Given the description of an element on the screen output the (x, y) to click on. 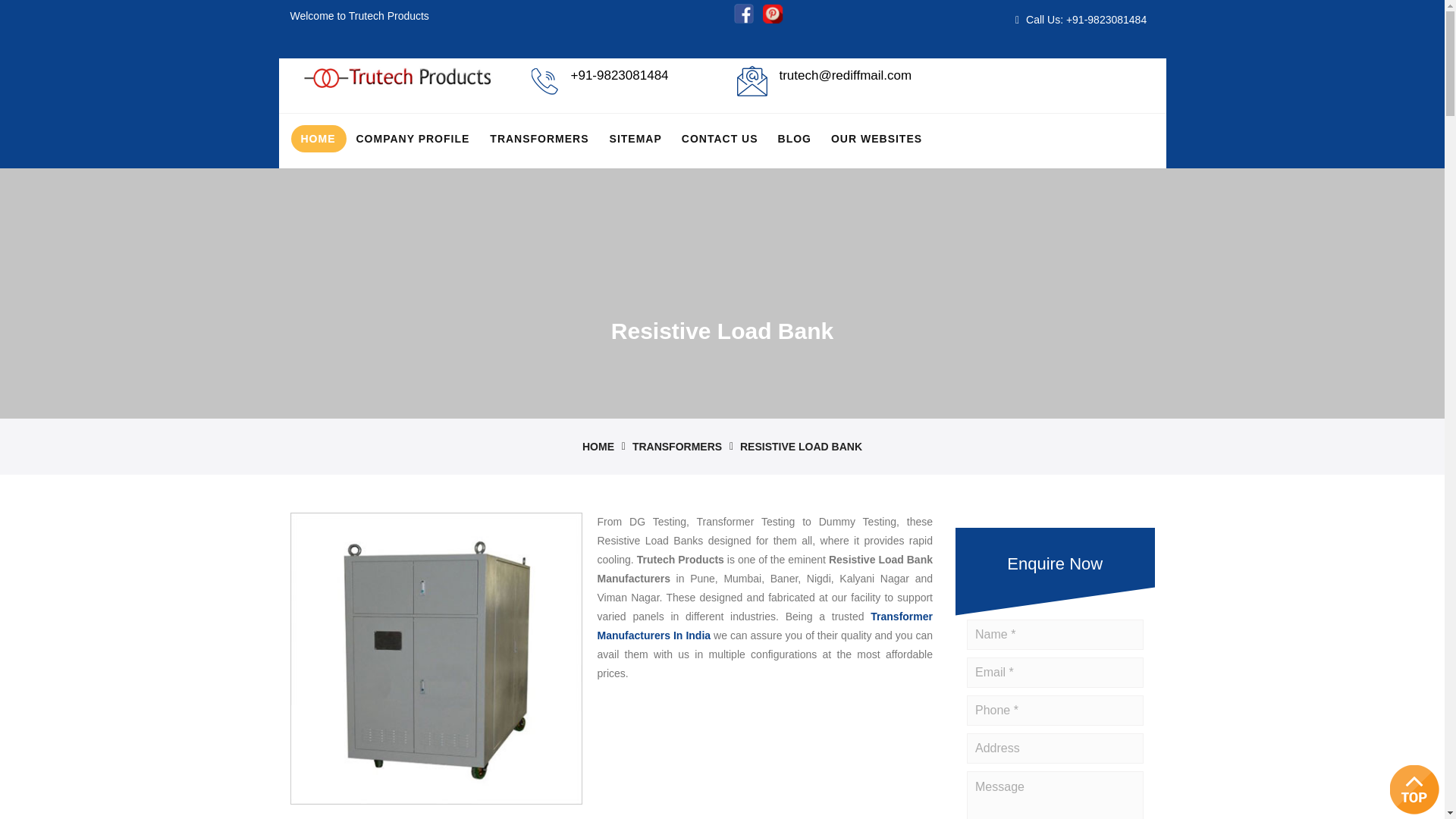
TRANSFORMERS (539, 138)
Pinterest (772, 19)
BLOG (794, 138)
Pinterest (772, 13)
Transformers (539, 138)
COMPANY PROFILE (413, 138)
OUR WEBSITES (876, 138)
Trutech Products (398, 76)
Facebook (743, 13)
Facebook (743, 19)
